Given the description of an element on the screen output the (x, y) to click on. 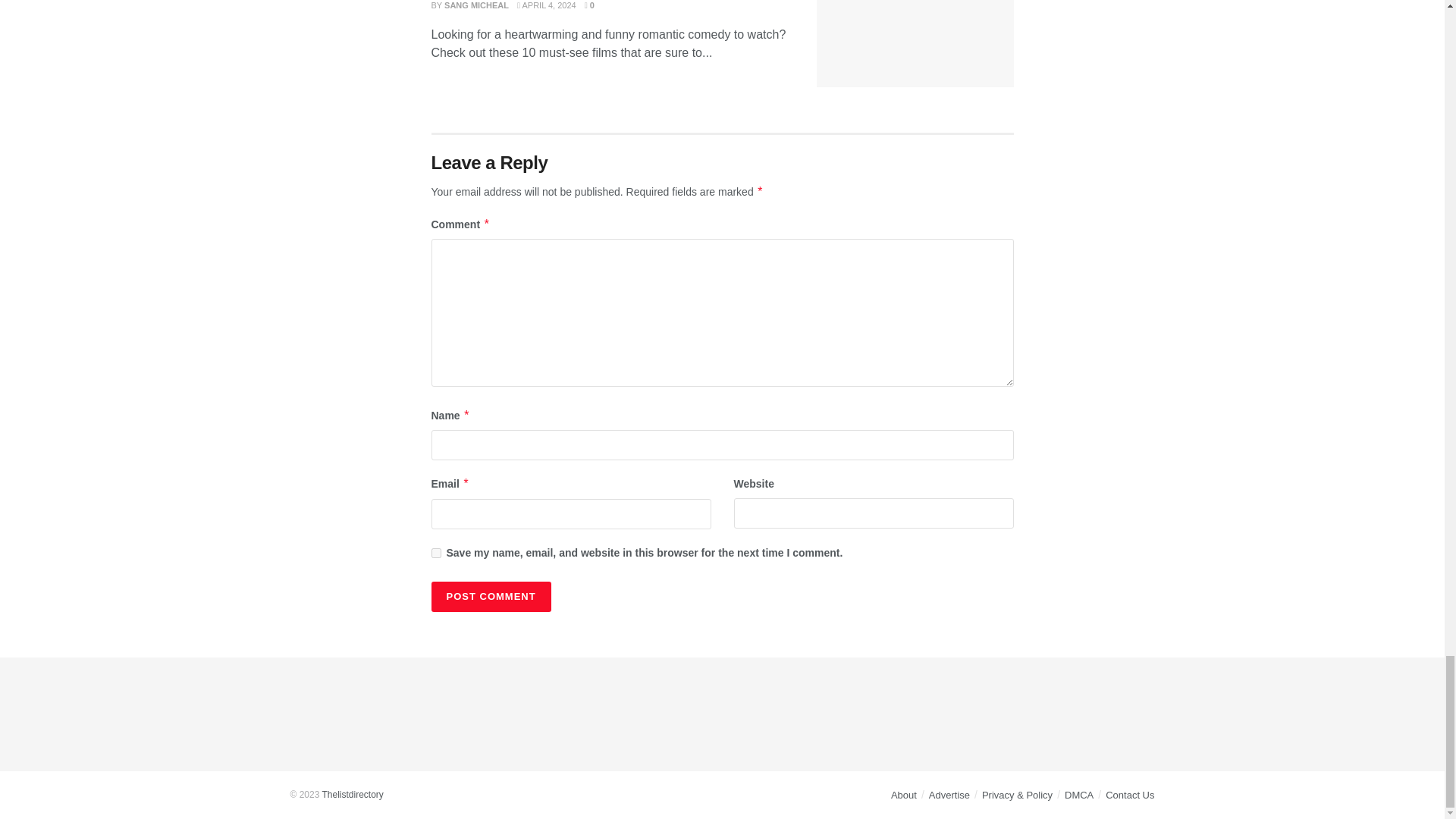
The list directory (351, 794)
yes (435, 552)
Post Comment (490, 596)
